Given the description of an element on the screen output the (x, y) to click on. 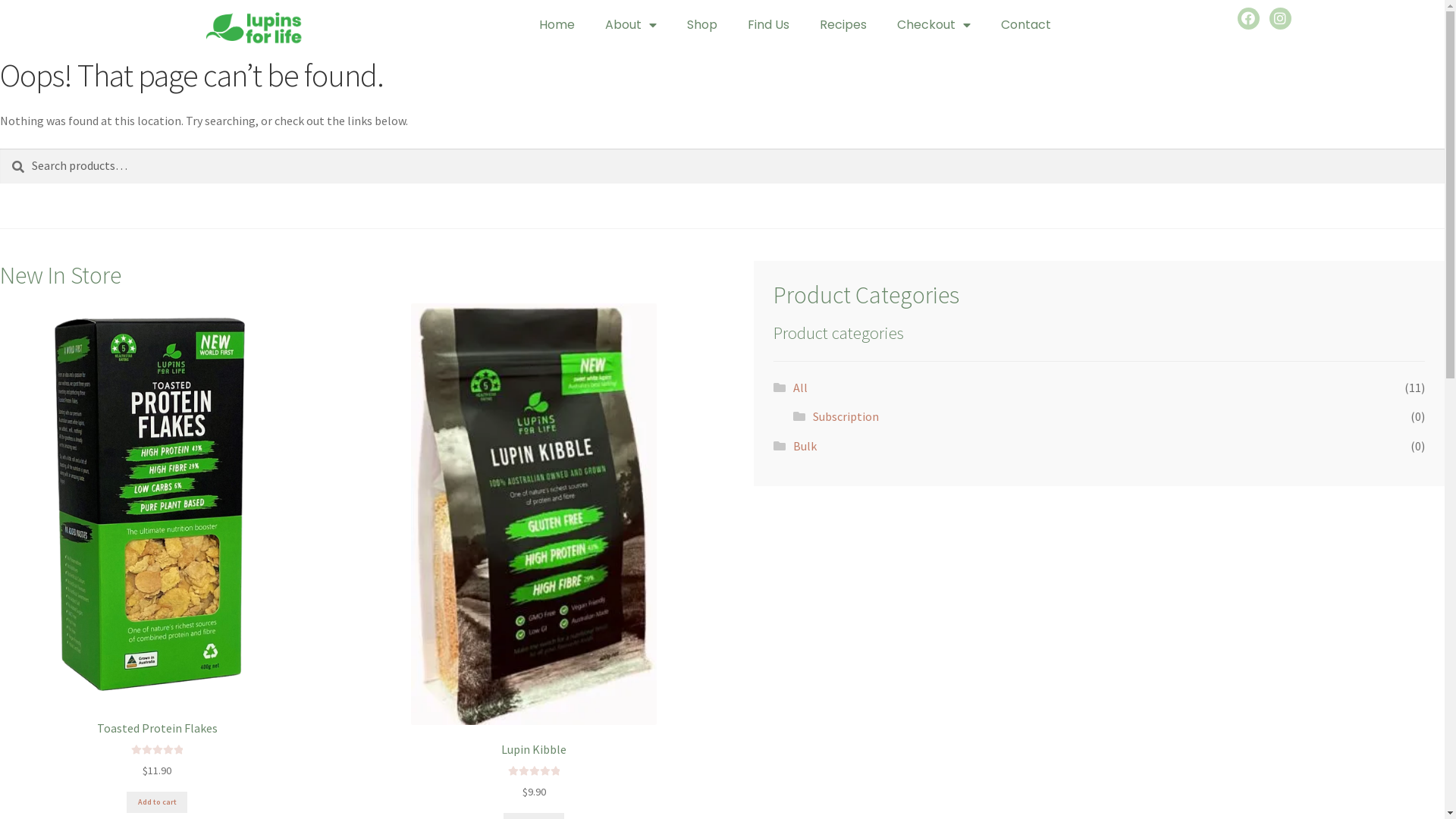
All Element type: text (800, 387)
Home Element type: text (556, 24)
About Element type: text (630, 24)
Checkout Element type: text (933, 24)
Contact Element type: text (1025, 24)
Toasted Protein Flakes
$11.90 Element type: text (156, 541)
Find Us Element type: text (768, 24)
Shop Element type: text (701, 24)
Recipes Element type: text (842, 24)
Add to cart Element type: text (156, 802)
Subscription Element type: text (845, 415)
Bulk Element type: text (804, 445)
Lupin Kibble
$9.90 Element type: text (533, 551)
